Given the description of an element on the screen output the (x, y) to click on. 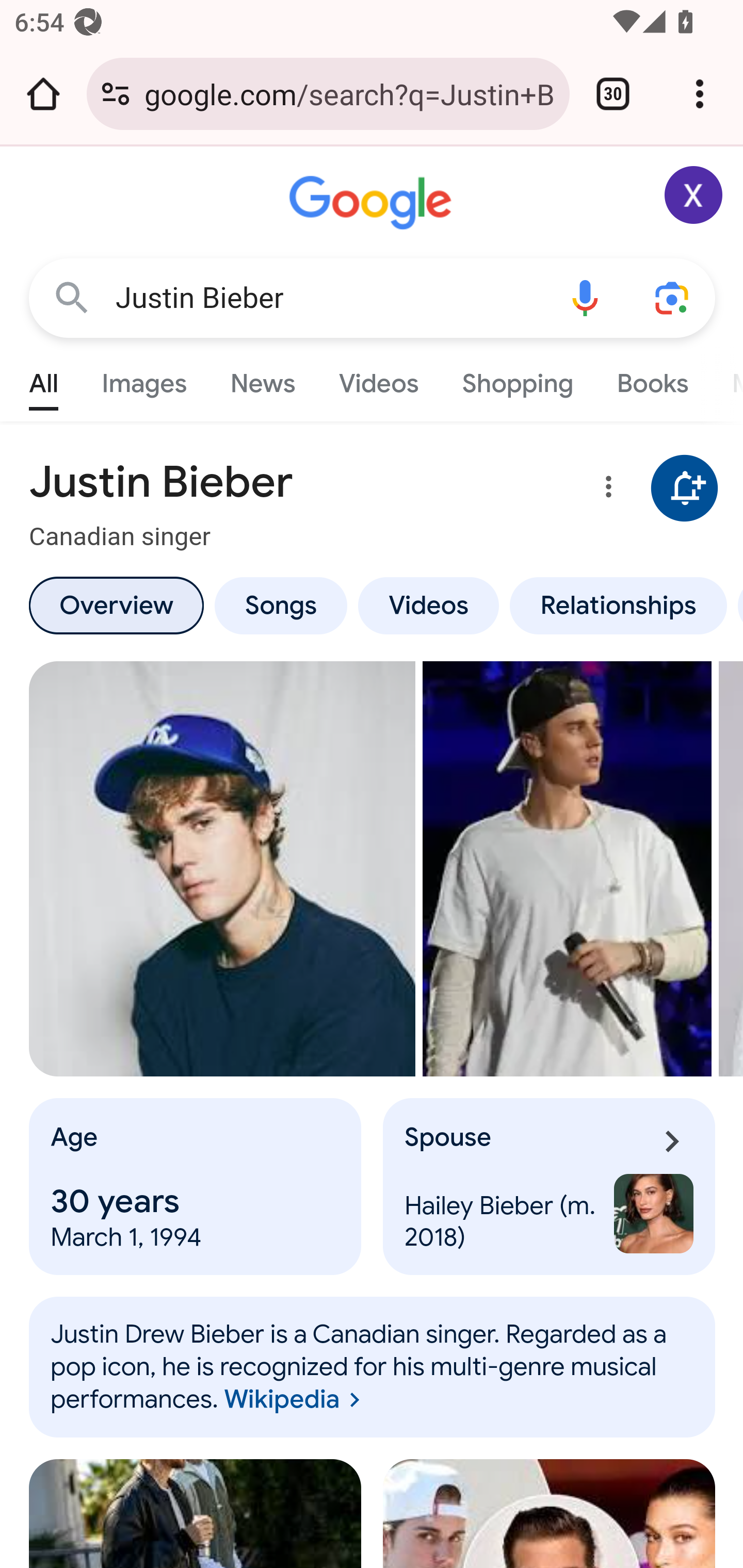
Open the home page (43, 93)
Connection is secure (115, 93)
Switch or close tabs (612, 93)
Customize and control Google Chrome (699, 93)
Google (372, 203)
Google Account: Xiaoran (zxrappiumtest@gmail.com) (694, 195)
Google Search (71, 296)
Search using your camera or photos (672, 296)
Justin Bieber (328, 297)
Images (144, 378)
News (262, 378)
Videos (378, 378)
Shopping (516, 378)
Books (652, 378)
Get notifications about Justin Bieber (684, 489)
More options (605, 489)
Overview (116, 605)
Songs (280, 605)
Videos (428, 605)
Relationships (618, 605)
Justin Bieber - Wikipedia (567, 868)
Justin_Bieber (372, 1367)
